Given the description of an element on the screen output the (x, y) to click on. 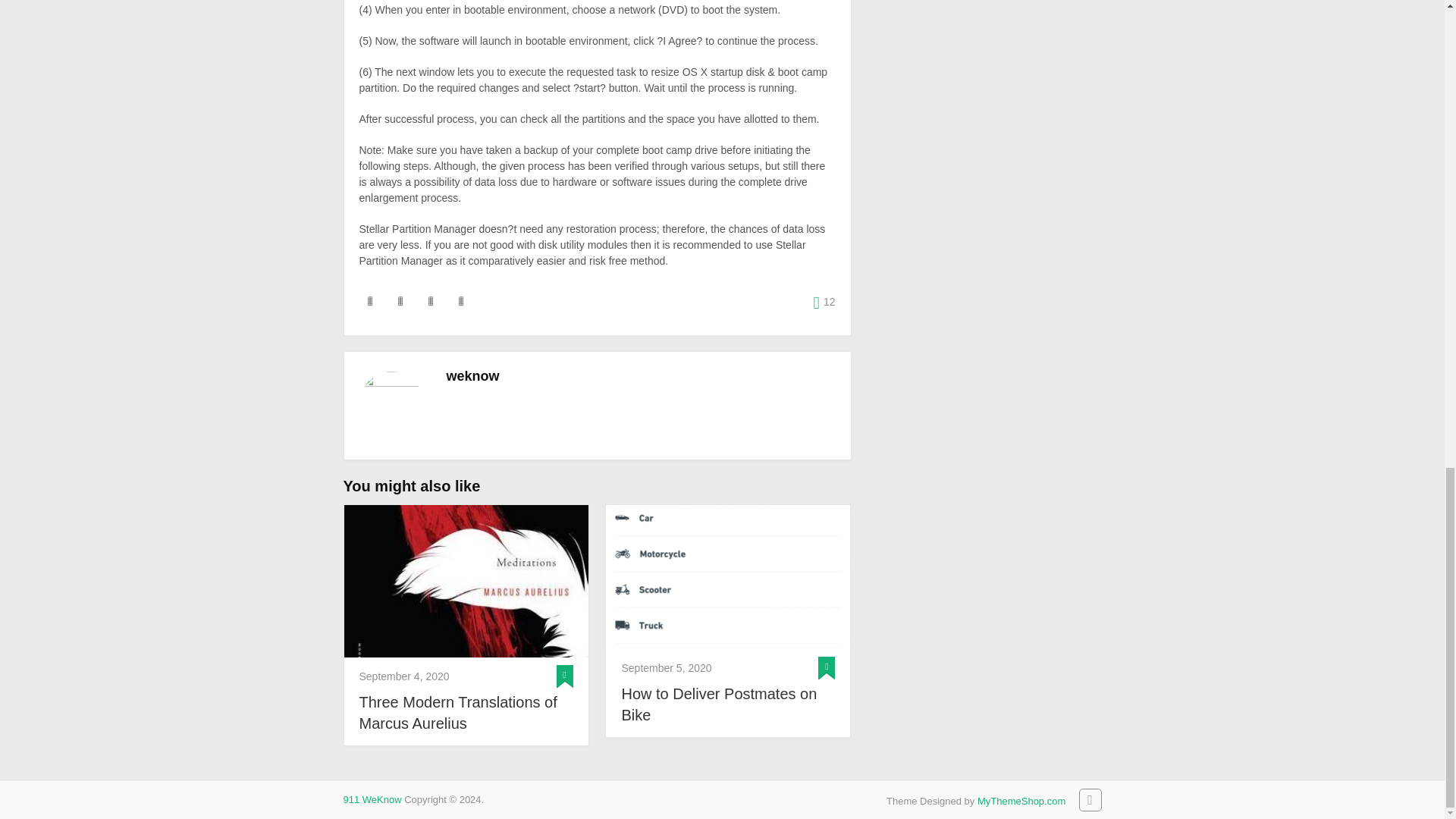
How to Deliver Postmates on Bike (727, 577)
weknow (472, 376)
911 WeKnow (371, 799)
MyThemeShop.com (1020, 800)
 911weknow.com (371, 799)
Three Modern Translations of Marcus Aurelius (466, 712)
How to Deliver Postmates on Bike (727, 704)
Three Modern Translations of Marcus Aurelius (466, 712)
Three Modern Translations of Marcus Aurelius (465, 581)
How to Deliver Postmates on Bike (727, 704)
